Given the description of an element on the screen output the (x, y) to click on. 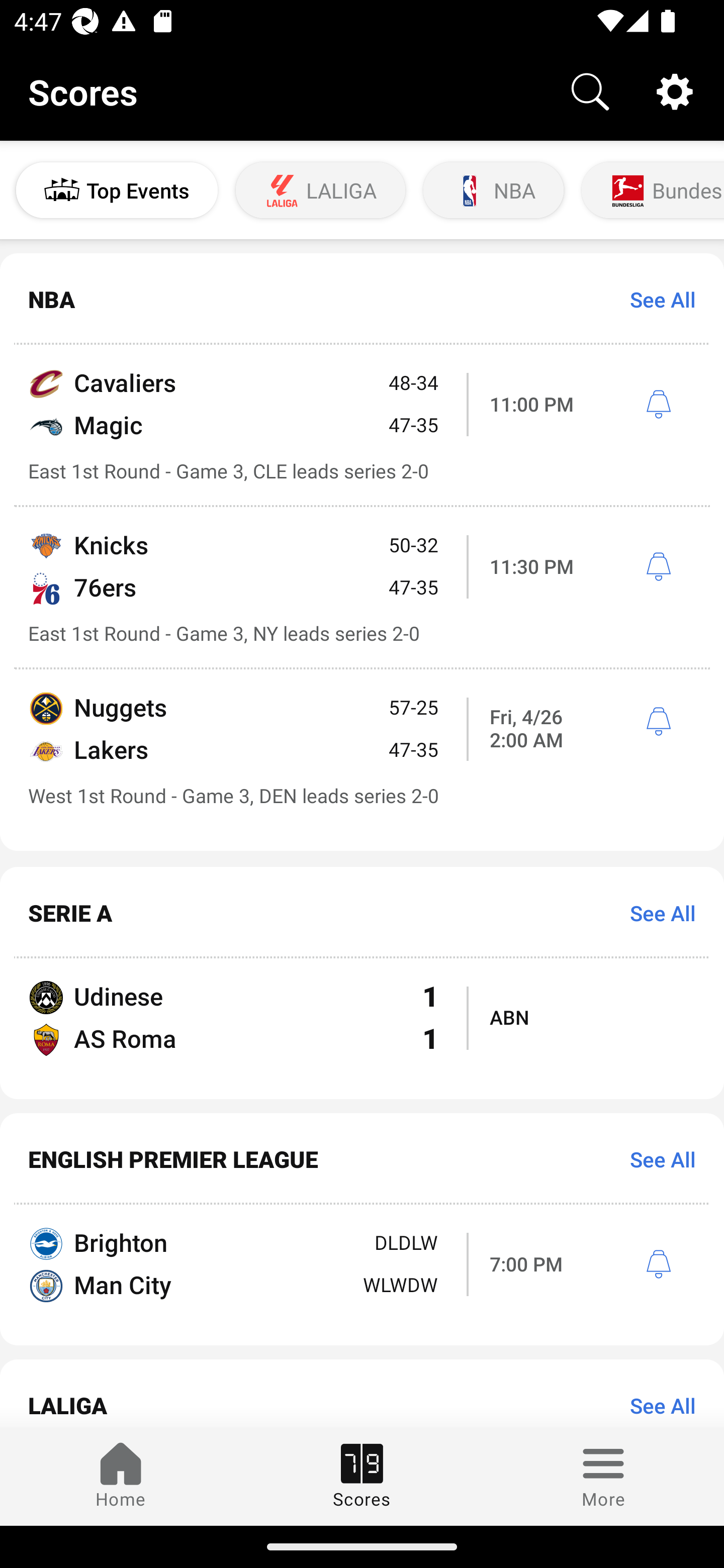
Search (590, 90)
Settings (674, 90)
 Top Events (116, 190)
LALIGA (320, 190)
NBA (492, 190)
Bundesliga (651, 190)
NBA See All (362, 299)
See All (655, 299)
í (658, 404)
í (658, 567)
í (658, 721)
SERIE A See All (362, 912)
See All (655, 912)
Udinese 1 AS Roma 1 ABN (362, 1028)
ENGLISH PREMIER LEAGUE See All (362, 1158)
See All (655, 1158)
Brighton DLDLW Man City WLWDW 7:00 PM í (362, 1274)
í (658, 1264)
LALIGA See All (362, 1392)
See All (655, 1404)
Home (120, 1475)
More (603, 1475)
